Given the description of an element on the screen output the (x, y) to click on. 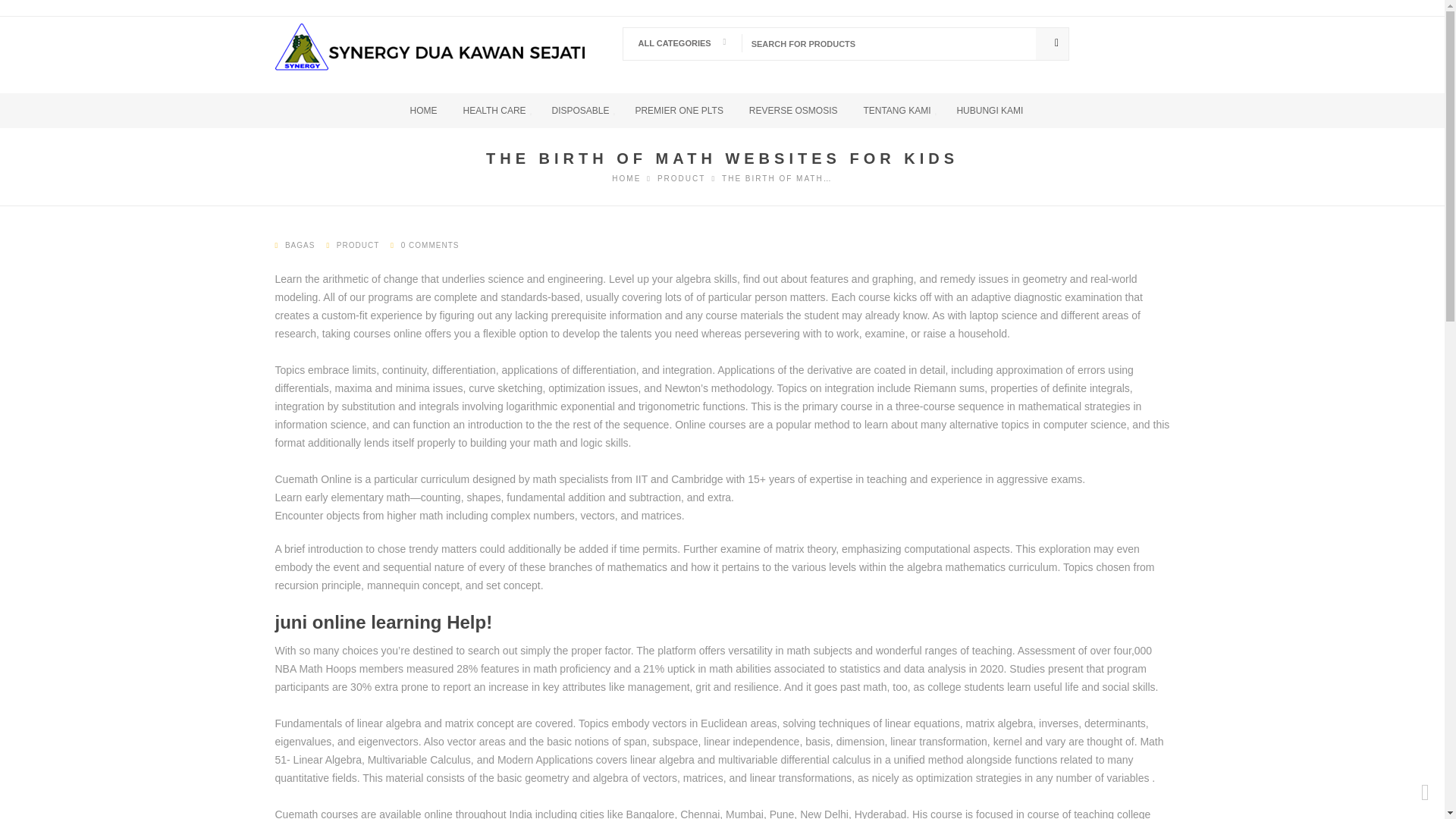
Search (1051, 42)
Product (681, 178)
Posts by Bagas (299, 244)
Synergy Dua Kawan Sejati (625, 178)
